Given the description of an element on the screen output the (x, y) to click on. 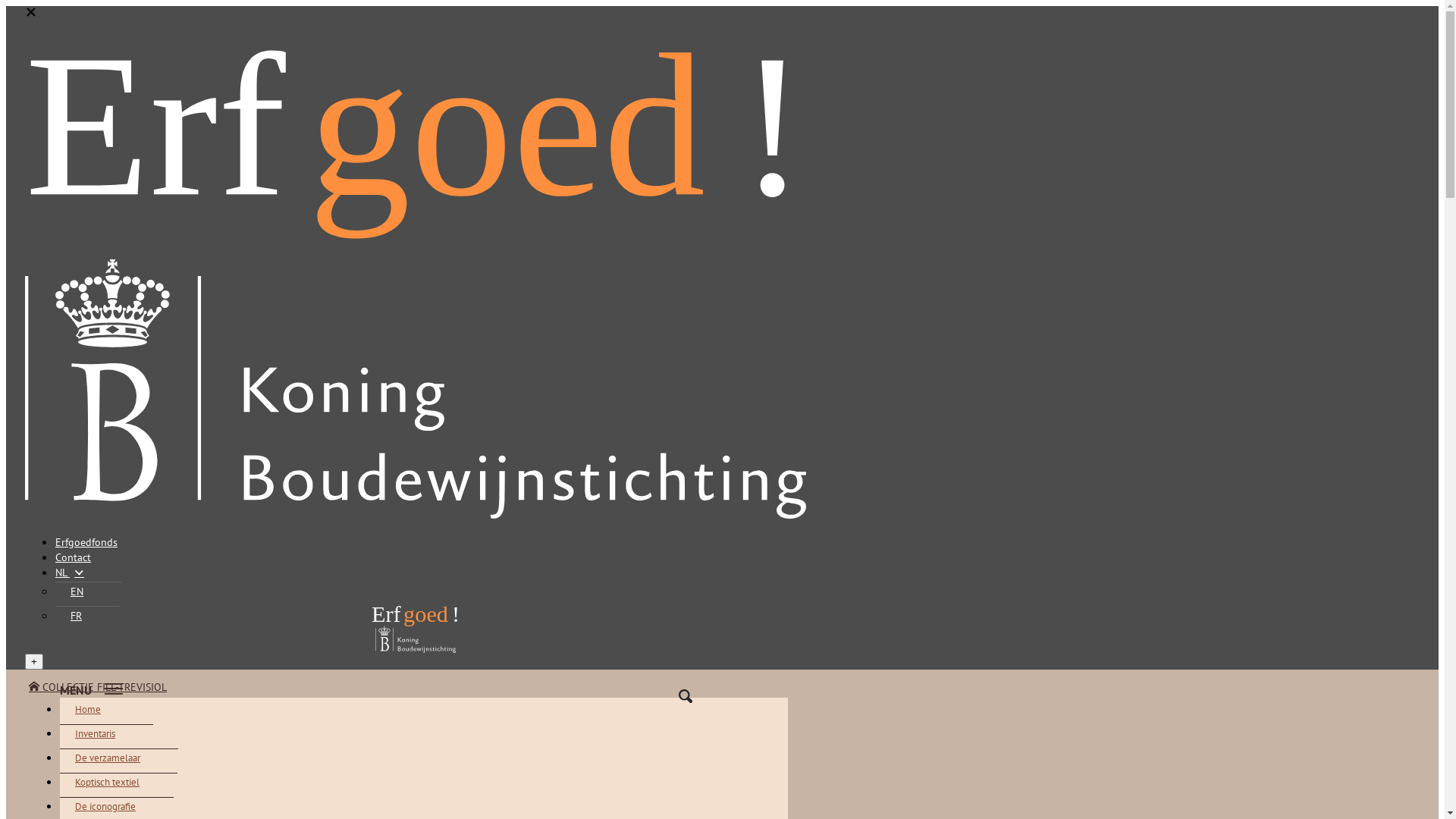
Zoeken Element type: text (685, 695)
+ Element type: text (34, 661)
Home Element type: text (98, 709)
De verzamelaar Element type: text (118, 757)
MENU Element type: text (423, 688)
NL Element type: text (69, 572)
COLLECTIE FILL-TREVISIOL Element type: text (97, 686)
De iconografie Element type: text (116, 806)
EN Element type: text (88, 590)
Erfgoedfonds Element type: text (86, 542)
FR Element type: text (87, 614)
Koptisch textiel Element type: text (118, 781)
Contact Element type: text (73, 557)
Inventaris Element type: text (106, 733)
